Given the description of an element on the screen output the (x, y) to click on. 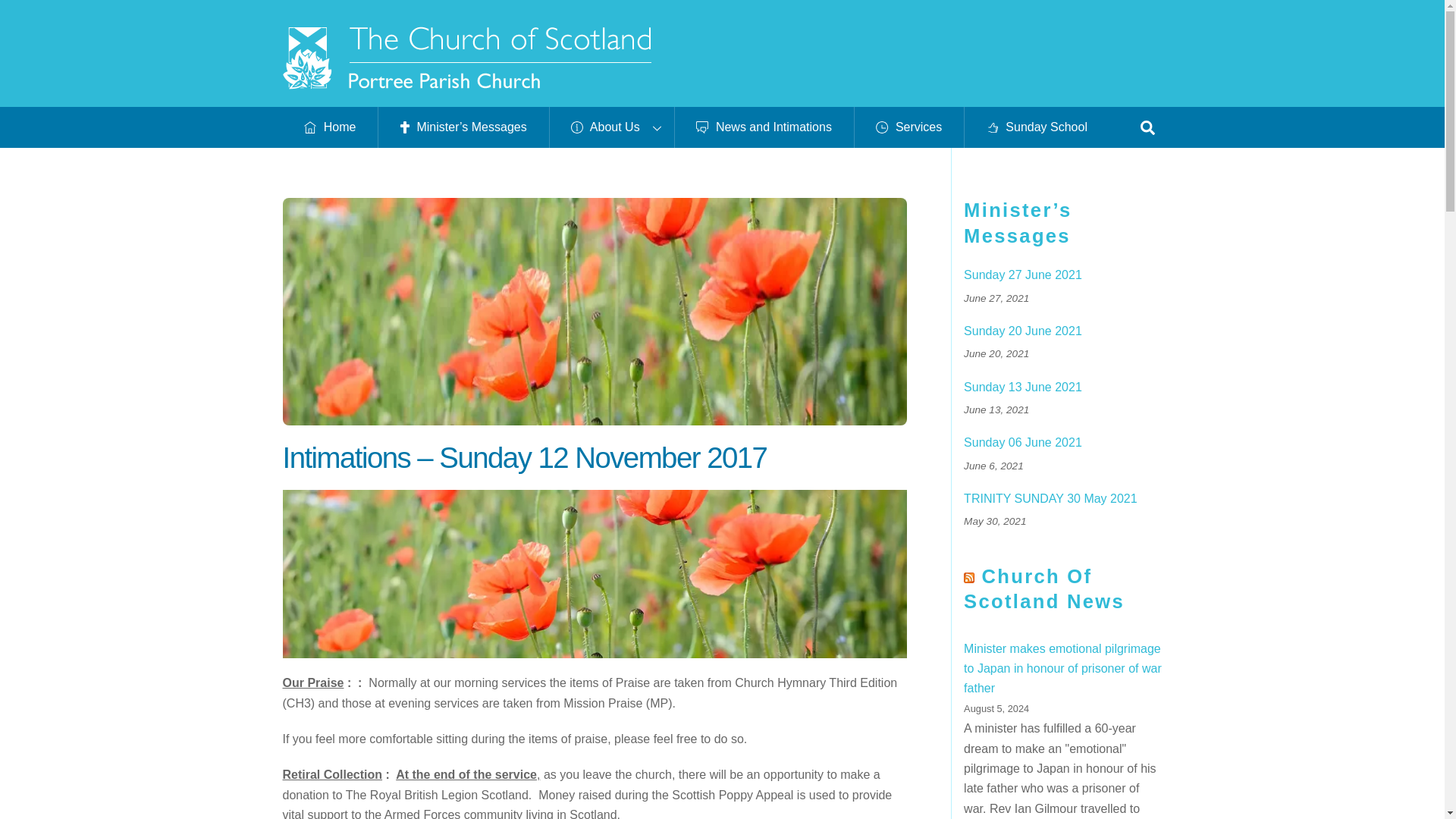
TRINITY SUNDAY 30 May 2021 (1062, 498)
Sunday School (1036, 127)
About Us (611, 127)
Search (1146, 126)
Sunday 06 June 2021 (1062, 442)
Church Of Scotland News (1043, 588)
Portree Parish Church of Scotland (466, 82)
Sunday 27 June 2021 (1062, 275)
Home (329, 127)
Sunday 13 June 2021 (1062, 387)
Services (908, 127)
Sunday 20 June 2021 (1062, 331)
News and Intimations (763, 127)
